Given the description of an element on the screen output the (x, y) to click on. 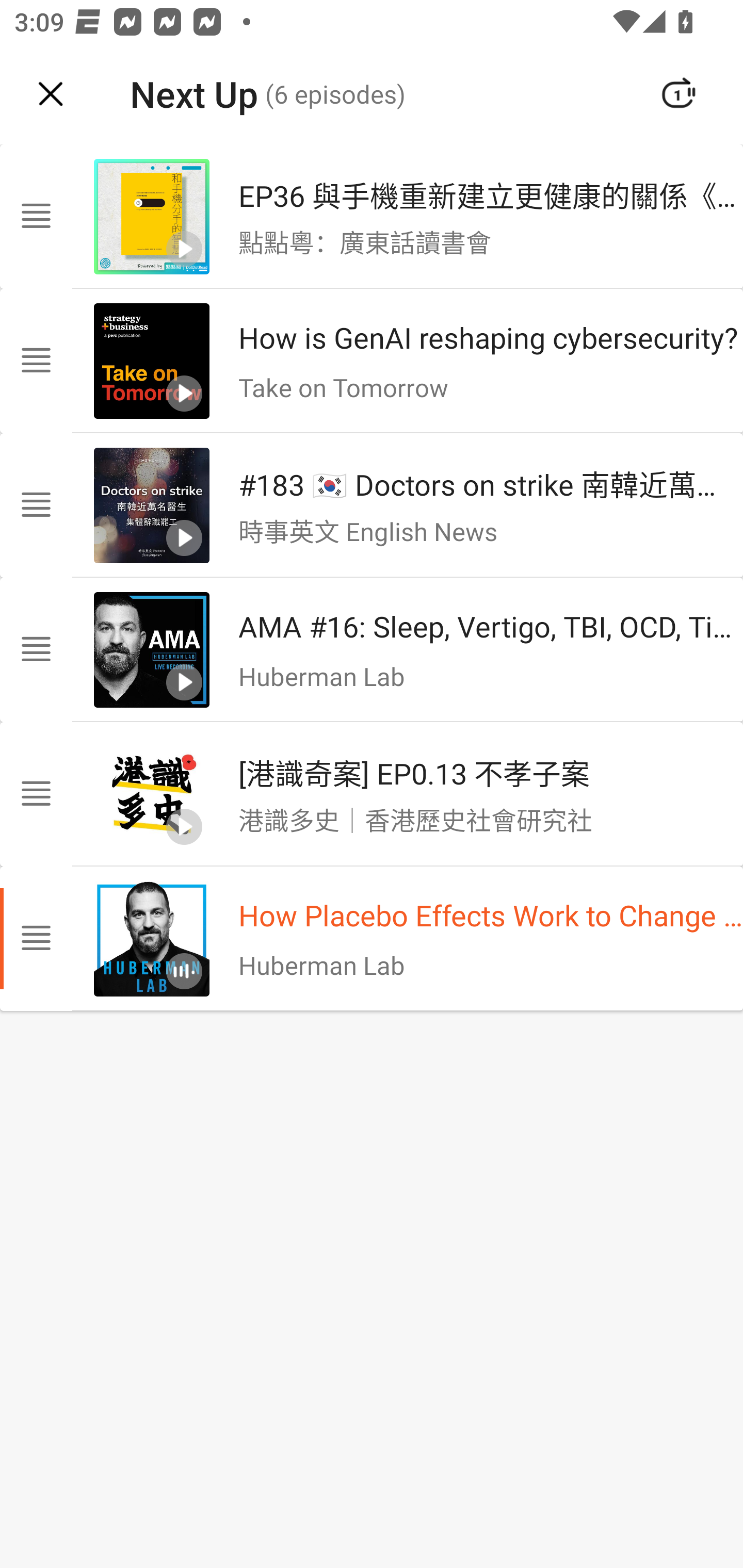
Navigate up (50, 93)
